Given the description of an element on the screen output the (x, y) to click on. 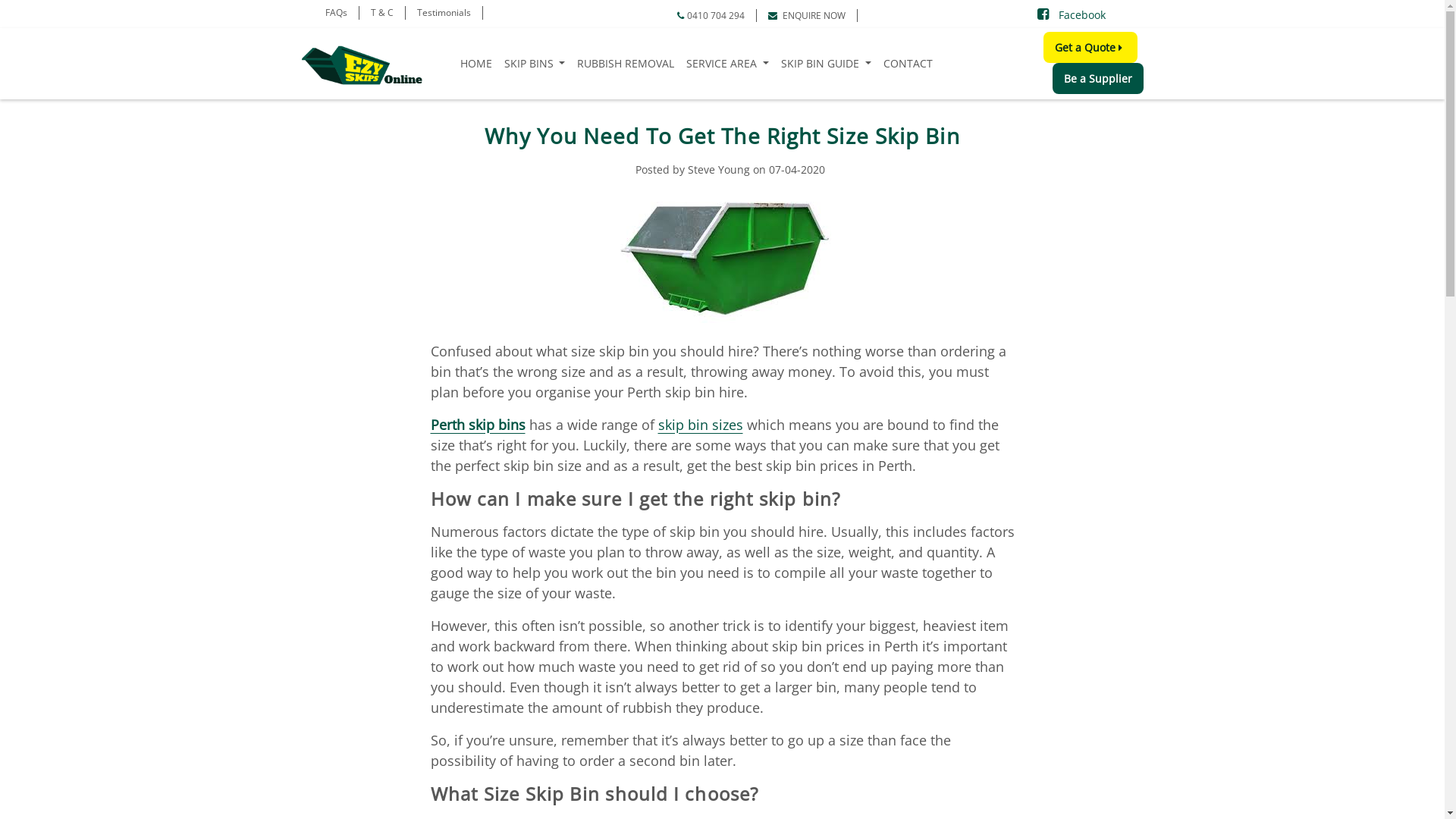
Perth skip bins Element type: text (477, 424)
Be a Supplier Element type: text (1097, 78)
HOME Element type: text (476, 62)
FAQs Element type: text (336, 12)
skip bin sizes Element type: text (700, 424)
Get a Quote Element type: text (1090, 46)
0410 704 294 Element type: text (710, 15)
RUBBISH REMOVAL Element type: text (625, 62)
ENQUIRE NOW Element type: text (806, 15)
SKIP BIN GUIDE Element type: text (826, 62)
Testimonials Element type: text (443, 12)
CONTACT Element type: text (907, 62)
SKIP BINS Element type: text (534, 62)
T & C Element type: text (382, 12)
SERVICE AREA Element type: text (727, 62)
Facebook Element type: text (1071, 13)
